Given the description of an element on the screen output the (x, y) to click on. 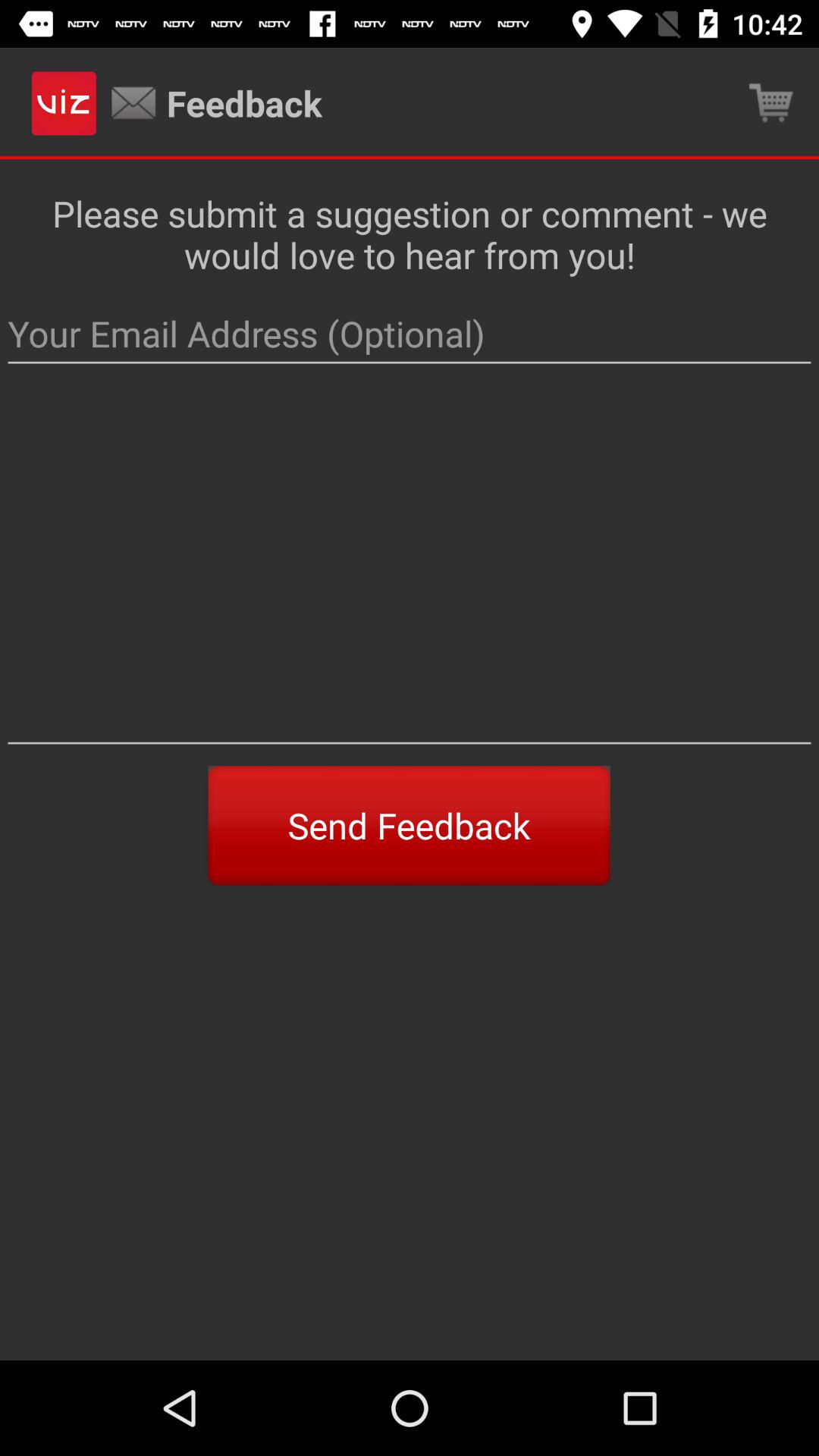
choose the item below the please submit a icon (409, 334)
